Given the description of an element on the screen output the (x, y) to click on. 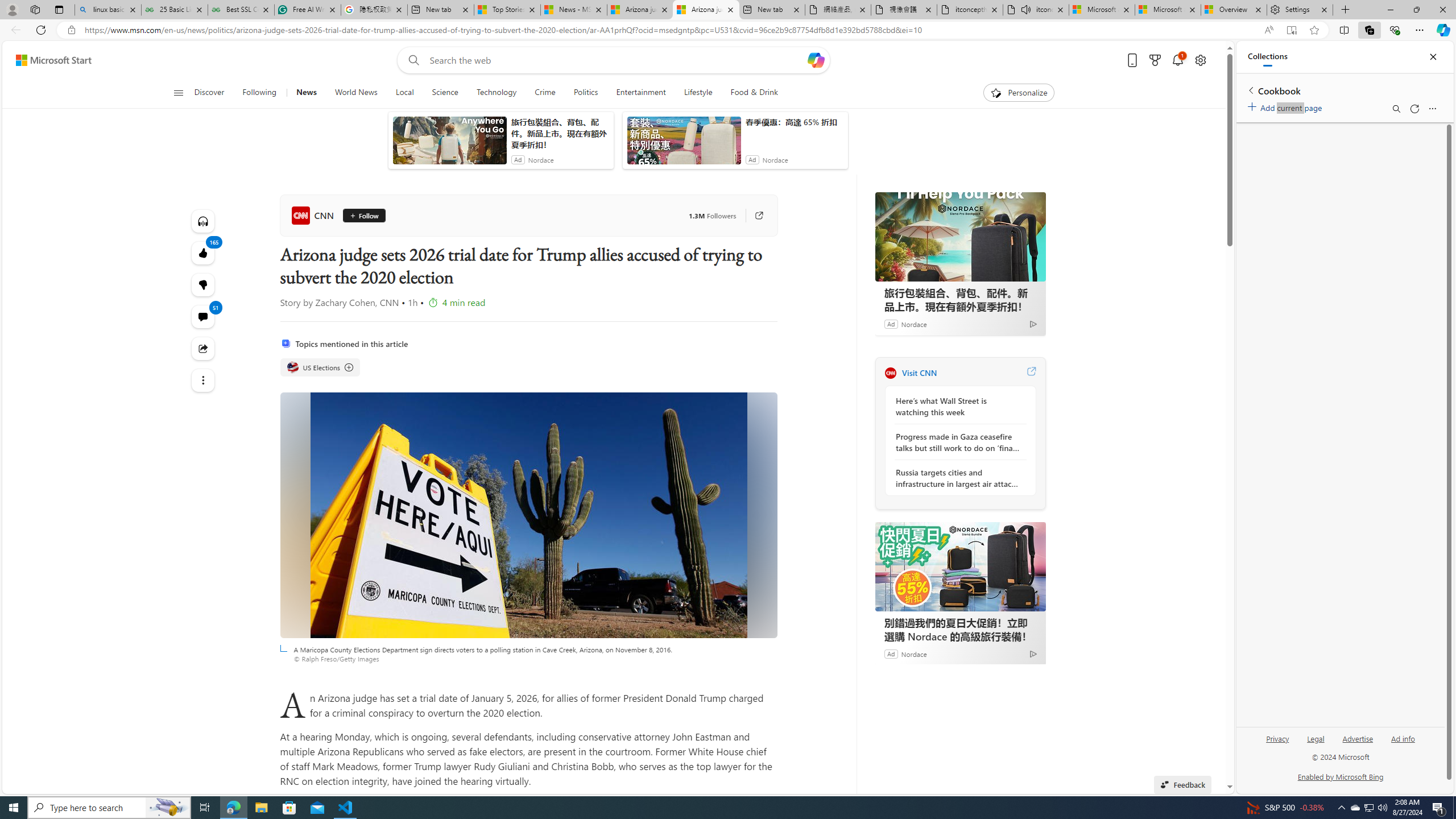
Lifestyle (698, 92)
Local (404, 92)
Free AI Writing Assistance for Students | Grammarly (307, 9)
More options menu (1432, 108)
Enter Immersive Reader (F9) (1291, 29)
World News (355, 92)
Visit CNN website (1031, 372)
anim-content (683, 144)
